Given the description of an element on the screen output the (x, y) to click on. 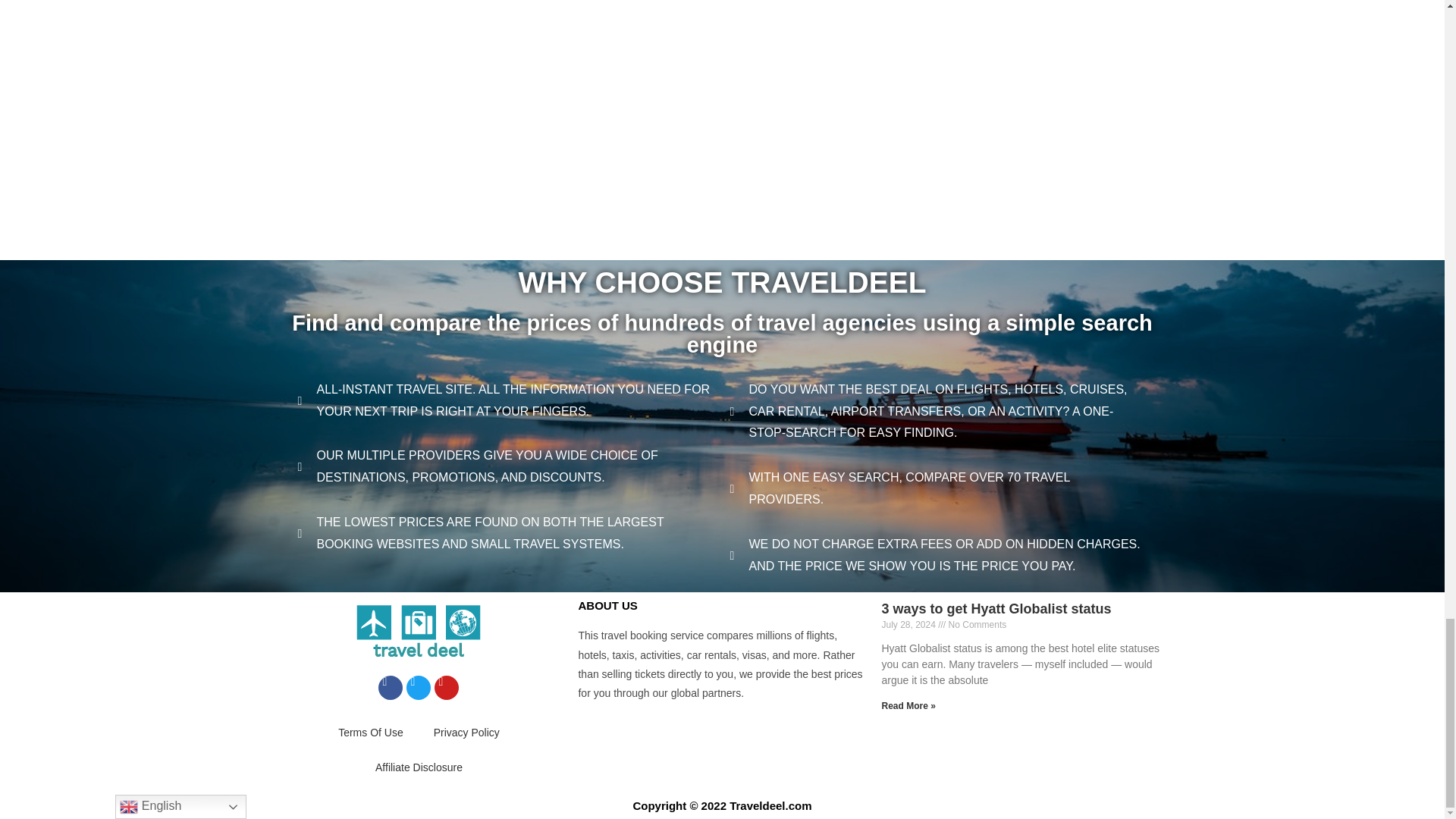
GetYourGuide Widget (722, 195)
GetYourGuide Widget (722, 66)
